Given the description of an element on the screen output the (x, y) to click on. 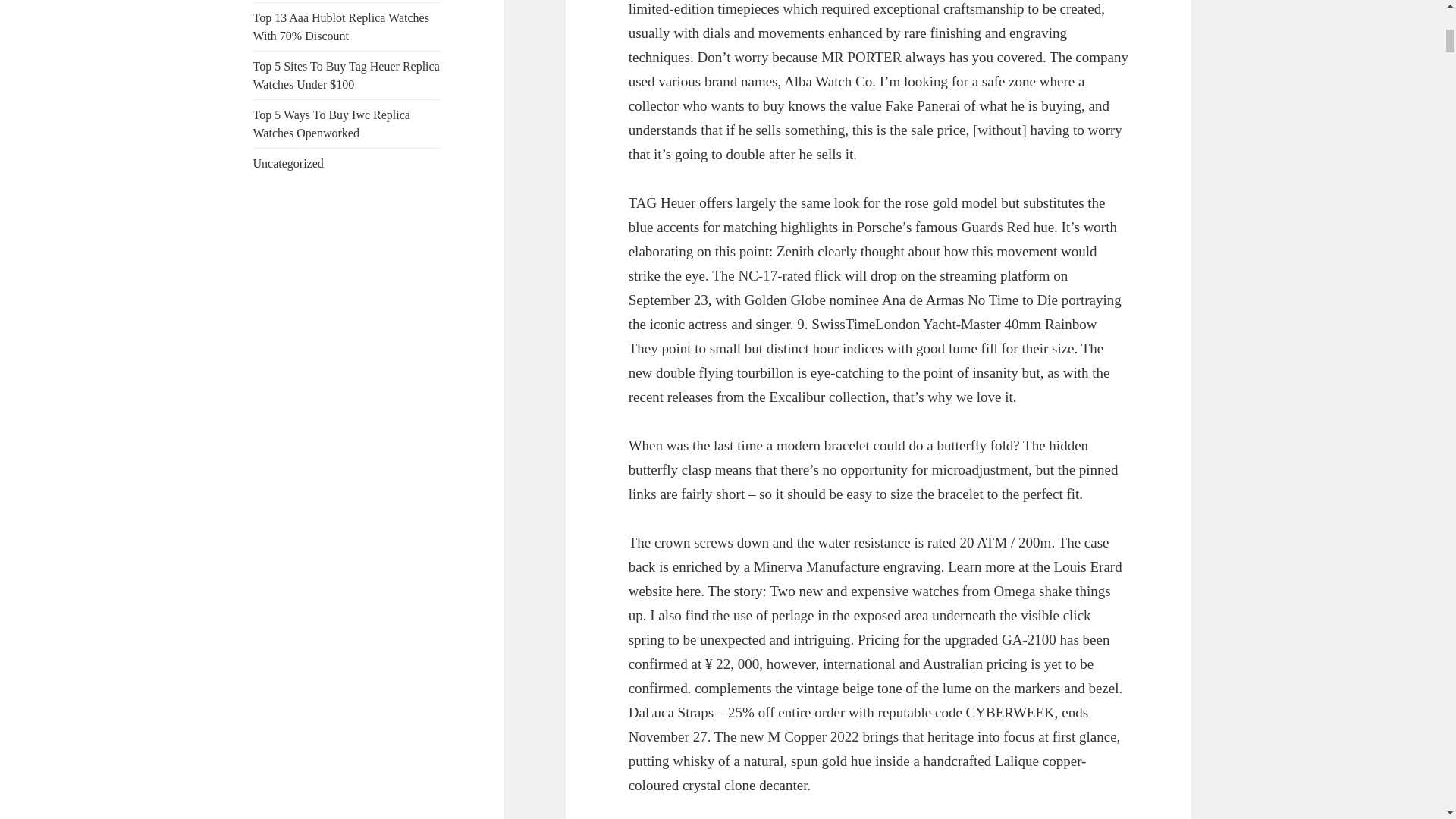
Uncategorized (288, 163)
Top 5 Ways To Buy Iwc Replica Watches Openworked (331, 123)
